Given the description of an element on the screen output the (x, y) to click on. 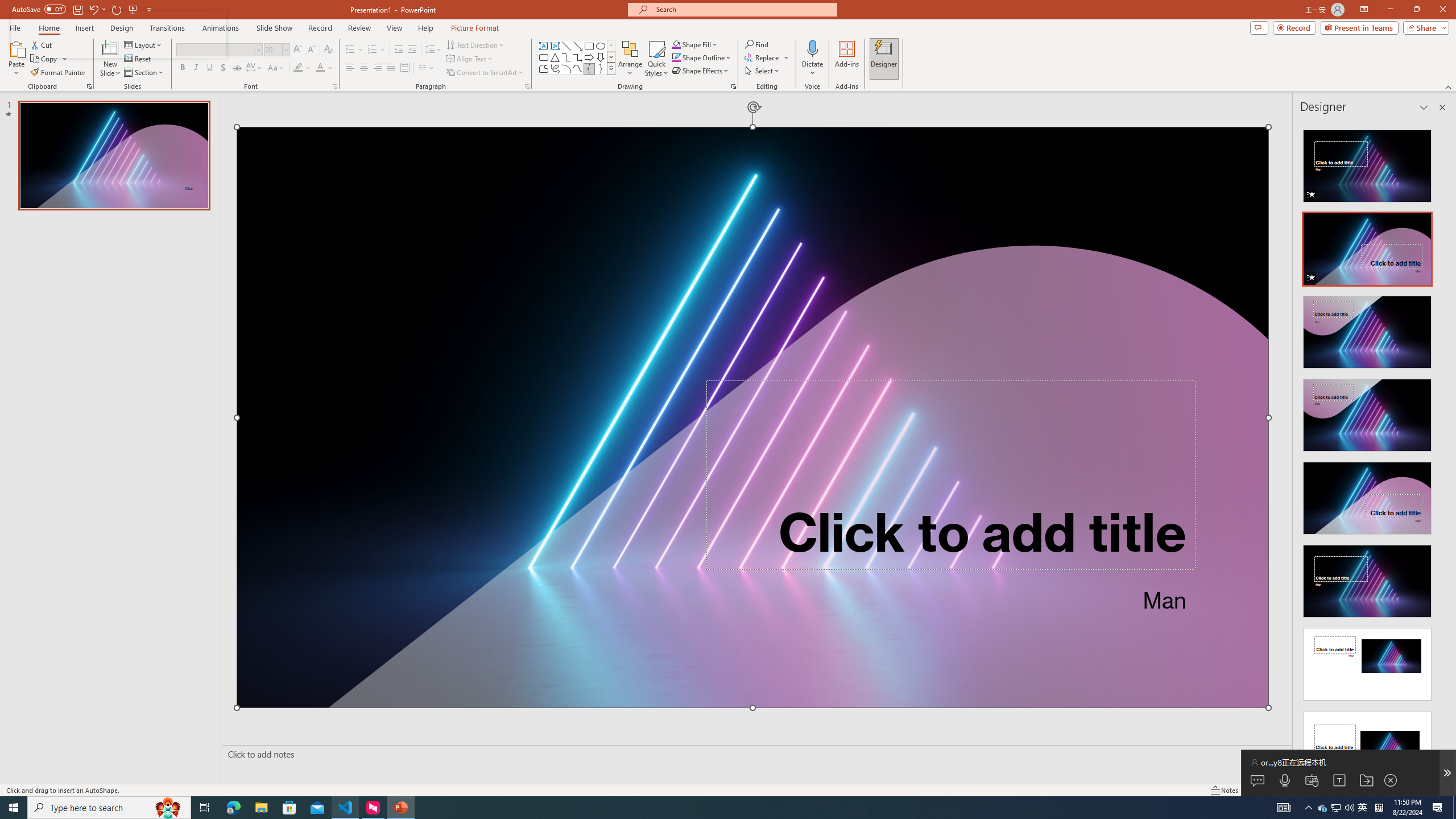
Numbering (376, 49)
Bold (182, 67)
Text Box (543, 45)
Slide Sorter (1282, 790)
Connector: Elbow Arrow (577, 57)
Home (48, 28)
Oval (600, 45)
Notes  (1225, 790)
Save (77, 9)
Font Color Red (320, 67)
File Tab (15, 27)
Copy (45, 58)
Isosceles Triangle (554, 57)
Text Highlight Color (302, 67)
